Given the description of an element on the screen output the (x, y) to click on. 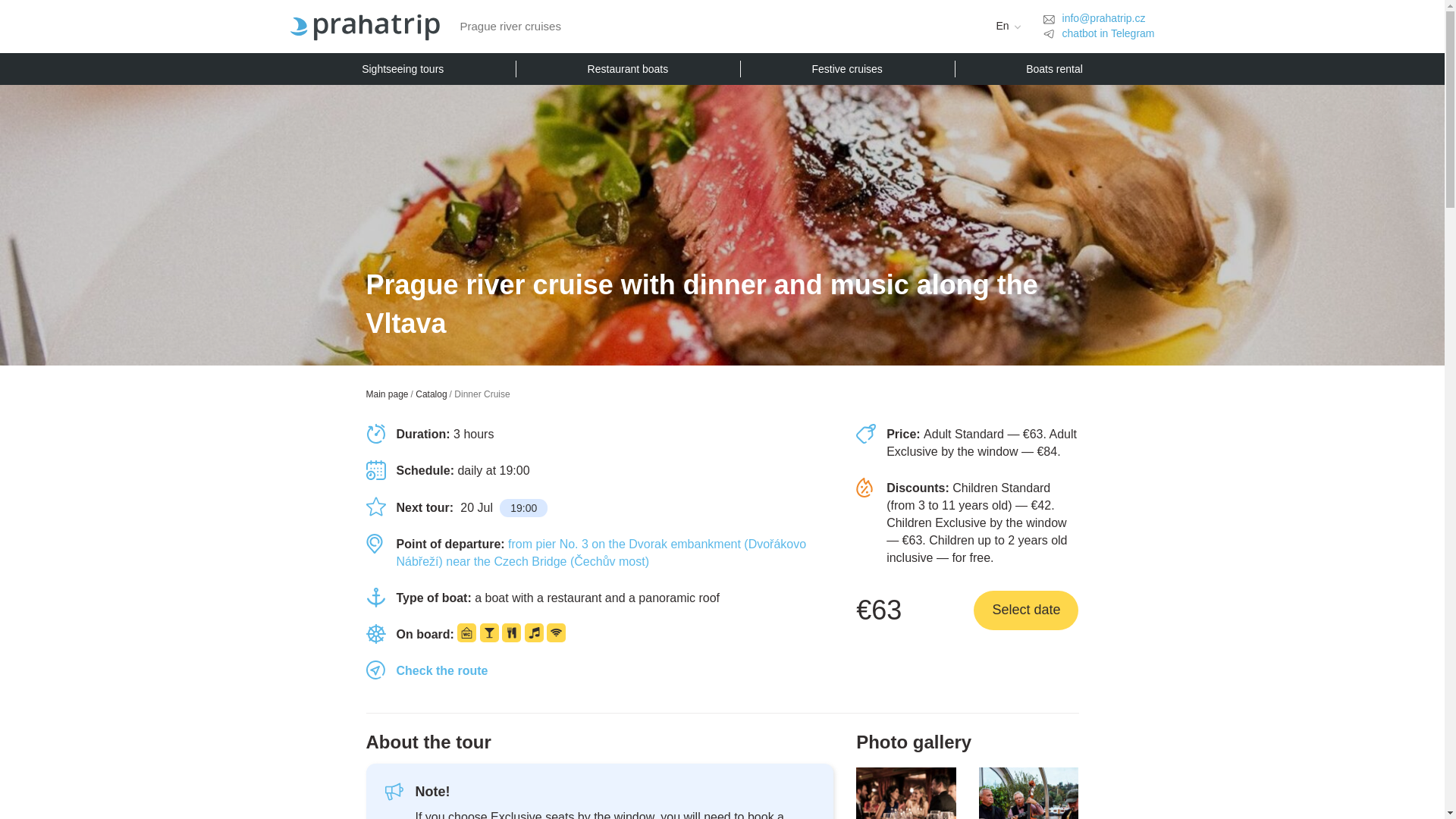
Select date (1026, 609)
Restaurant boats (627, 69)
Cs (1002, 47)
Check the route (441, 670)
chatbot in Telegram (1108, 33)
Sightseeing tours (402, 69)
Catalog (430, 394)
Main page (386, 394)
meals (510, 632)
Festive cruises (847, 69)
bar (489, 632)
Boats rental (1054, 69)
19:00 (523, 507)
WC (466, 632)
Wi-Fi (556, 632)
